Given the description of an element on the screen output the (x, y) to click on. 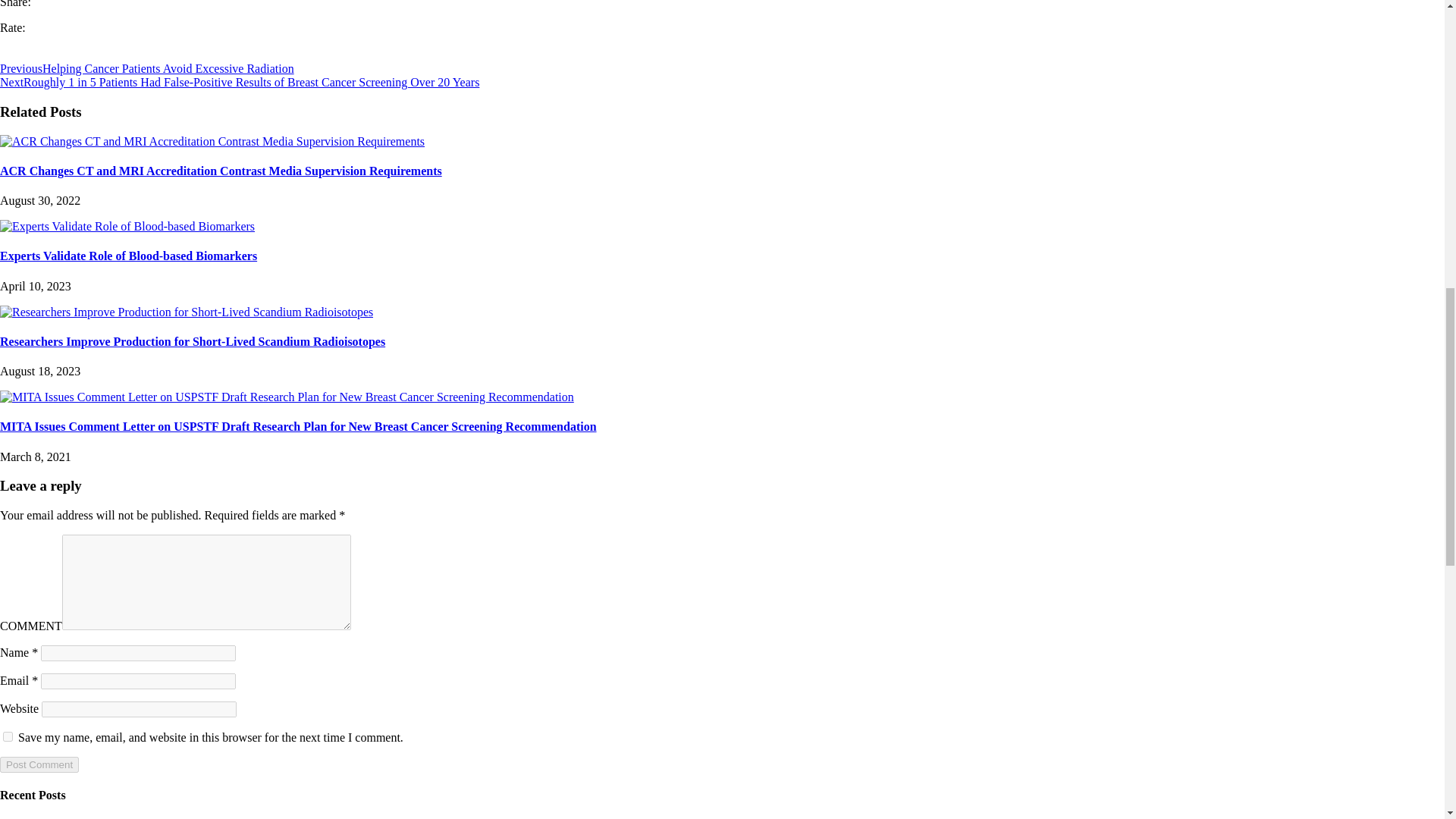
Experts Validate Role of Blood-based Biomarkers (127, 226)
yes (7, 737)
PreviousHelping Cancer Patients Avoid Excessive Radiation (147, 68)
Post Comment (39, 764)
